Given the description of an element on the screen output the (x, y) to click on. 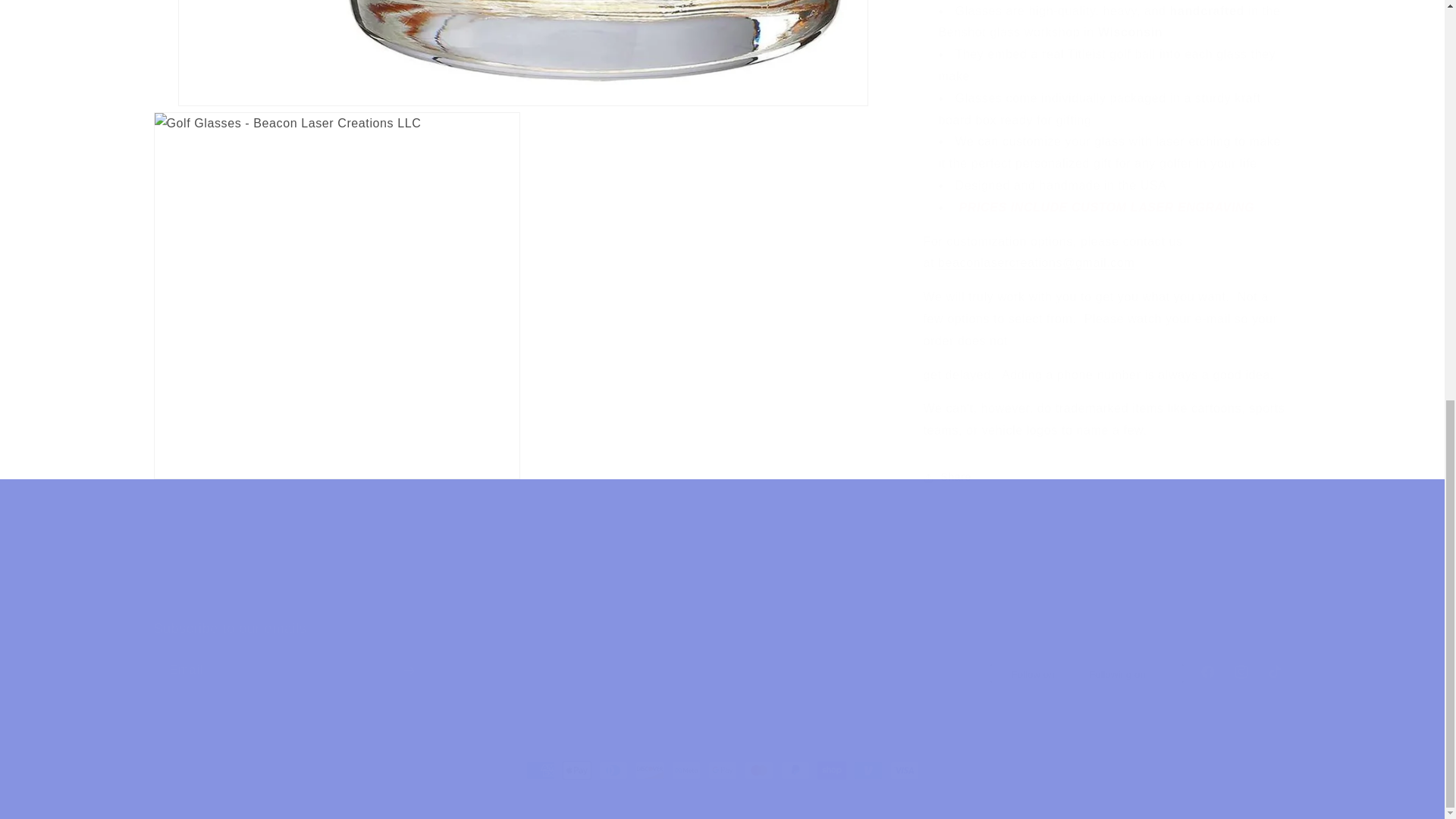
Open media 1 in modal (721, 574)
Open media 6 in modal (522, 29)
